Given the description of an element on the screen output the (x, y) to click on. 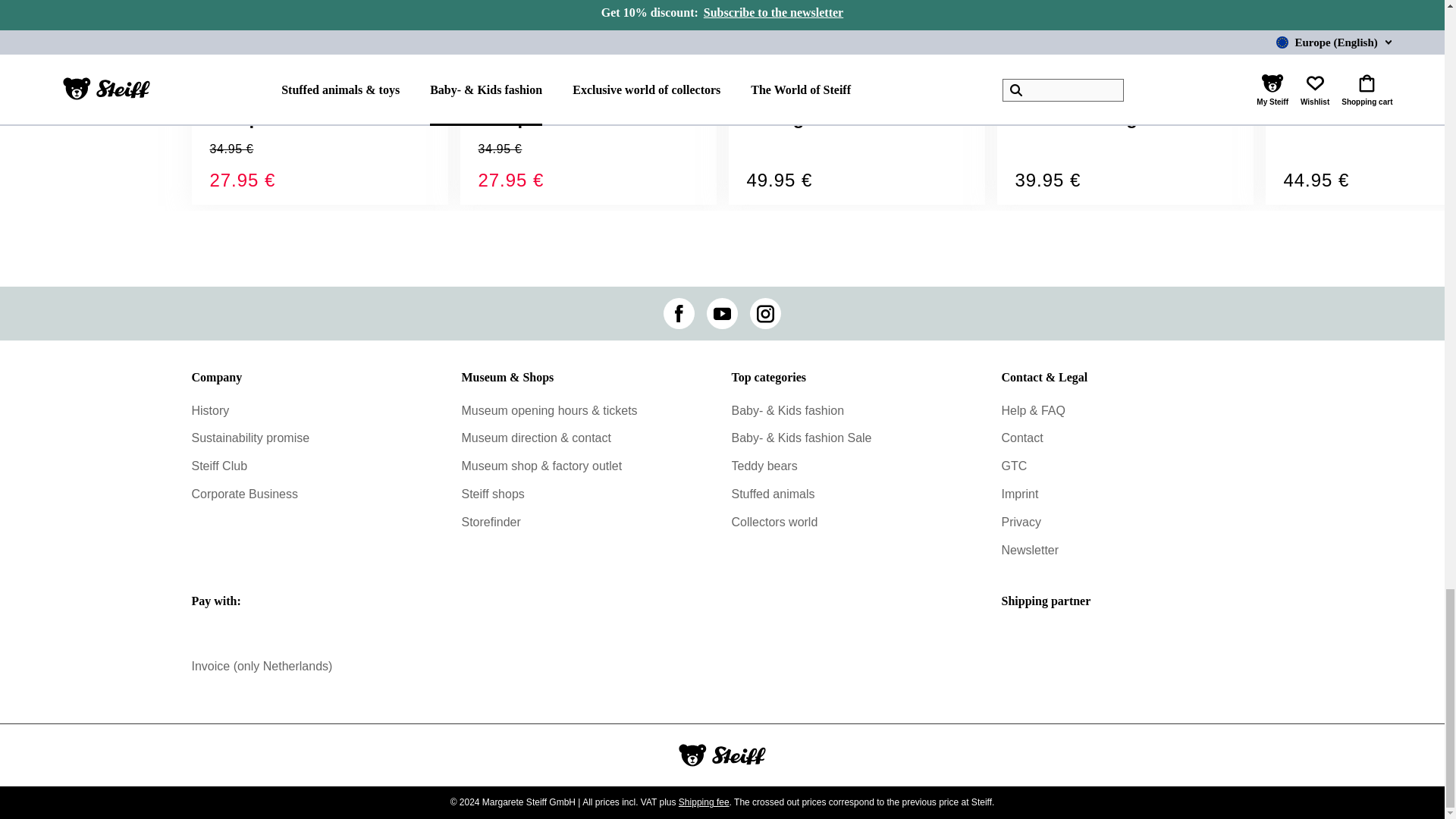
light grey (1288, 91)
light blue (1064, 91)
dark blue (1045, 91)
dark blue (237, 91)
dark blue (507, 91)
medium blue (486, 91)
white (1022, 91)
white (776, 91)
dark blue (796, 91)
medium blue (215, 91)
